Given the description of an element on the screen output the (x, y) to click on. 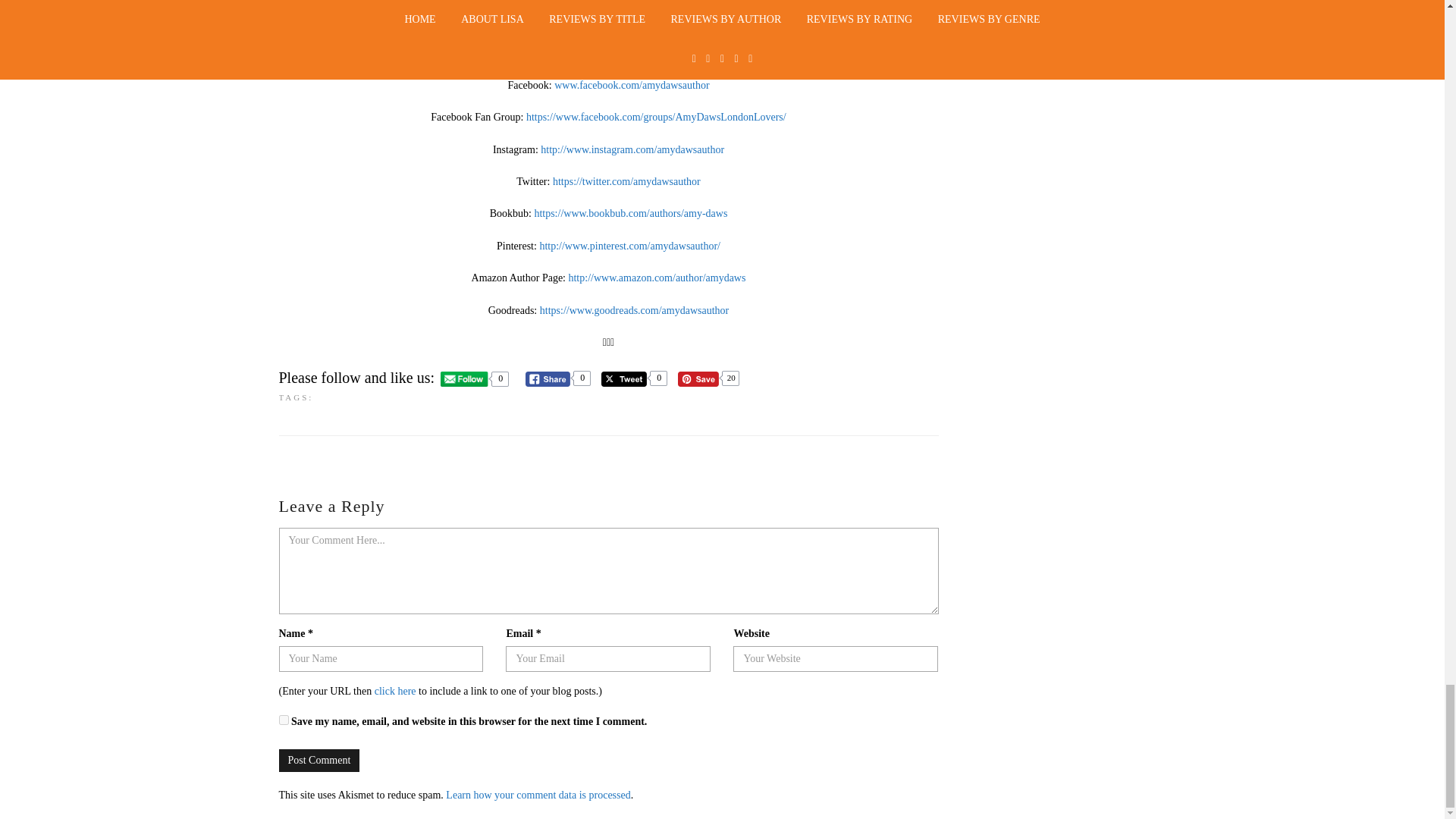
Tweet (623, 378)
Facebook Share (547, 378)
Post Comment (319, 760)
Pin Share (698, 378)
yes (283, 719)
